Given the description of an element on the screen output the (x, y) to click on. 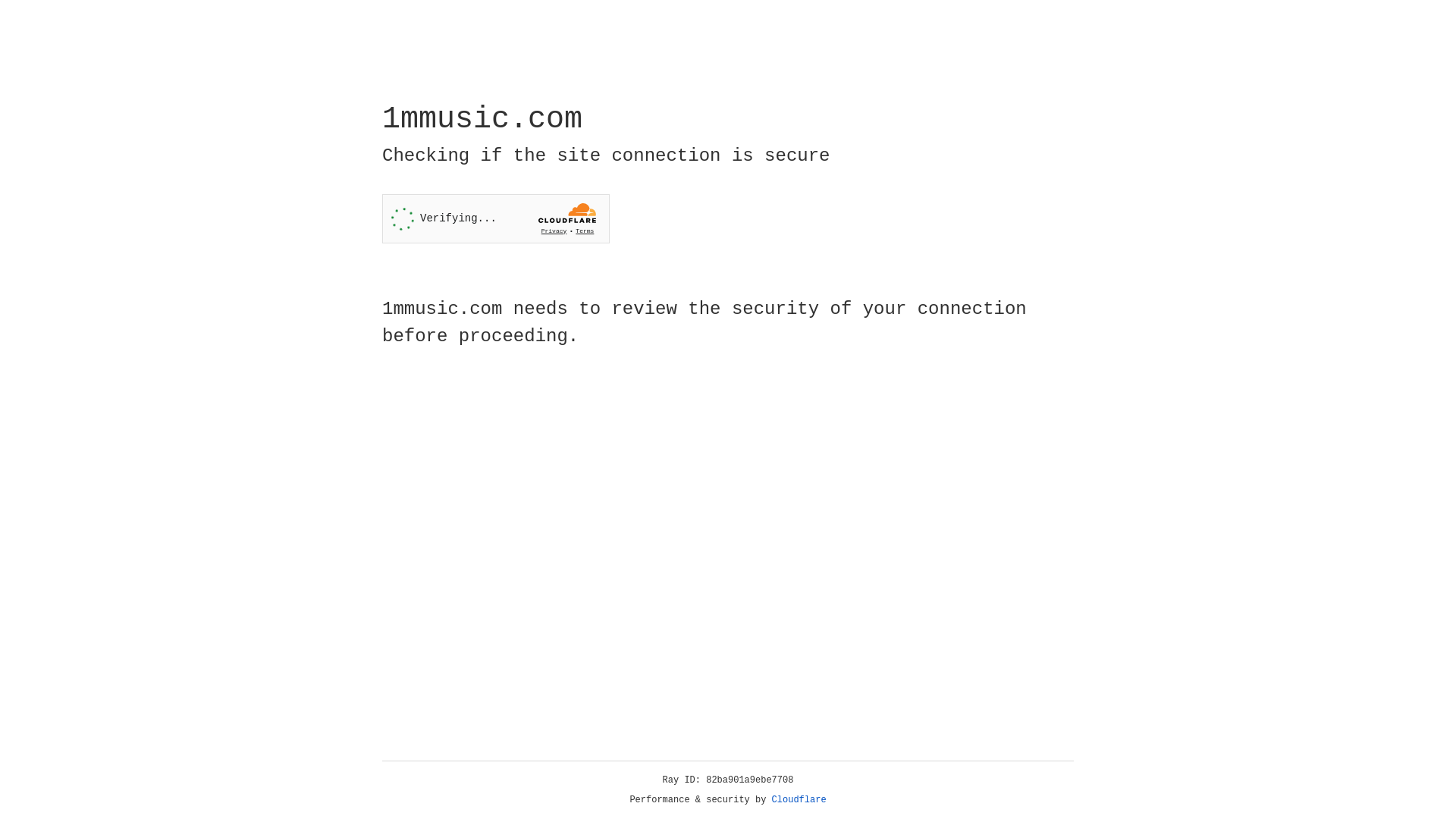
Widget containing a Cloudflare security challenge Element type: hover (495, 218)
Cloudflare Element type: text (798, 799)
